Given the description of an element on the screen output the (x, y) to click on. 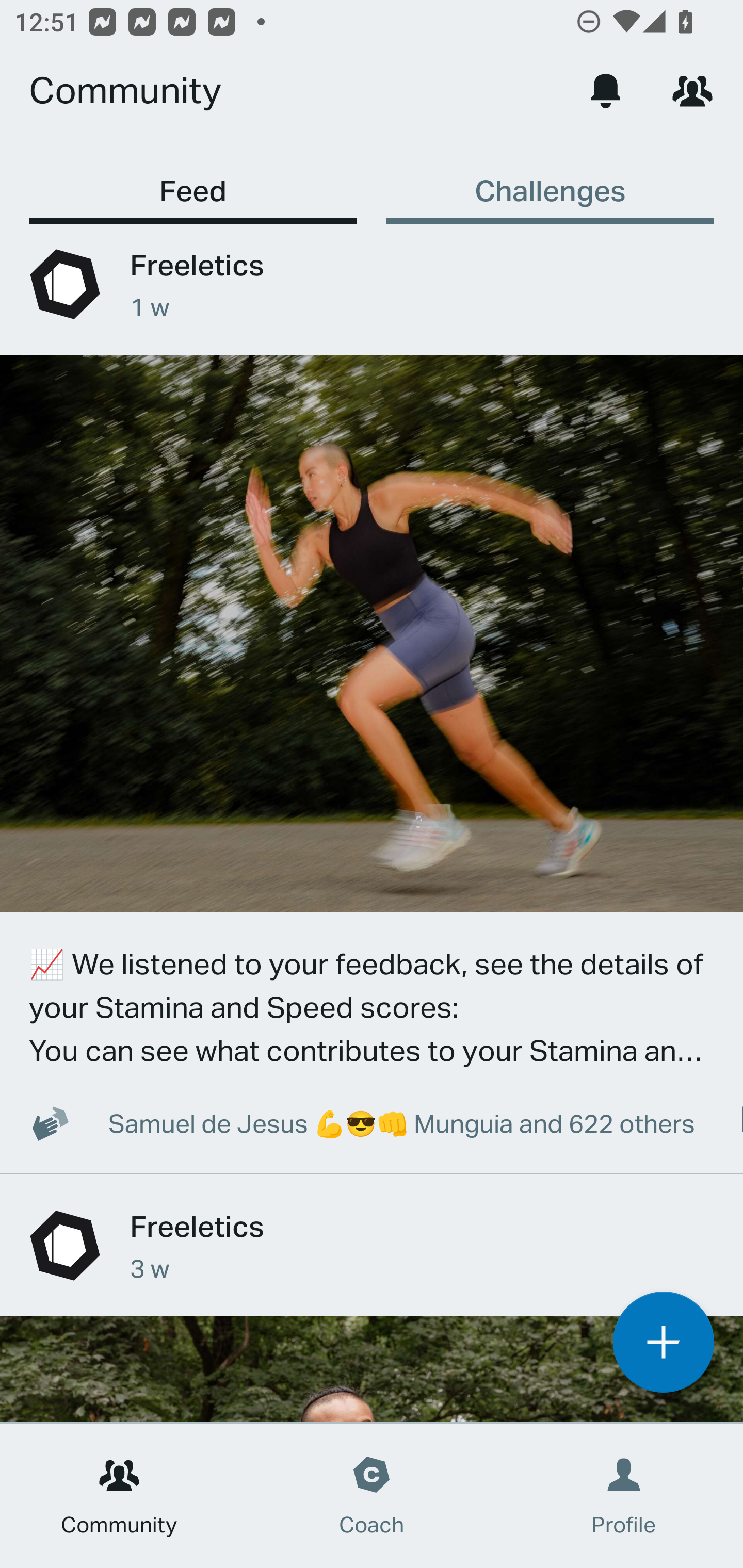
Notifications (605, 90)
Network (692, 90)
Feed (192, 180)
Challenges (549, 180)
Samuel de Jesus 💪😎👊 Munguia and 622 others (371, 1122)
Coach (371, 1495)
Profile (624, 1495)
